Given the description of an element on the screen output the (x, y) to click on. 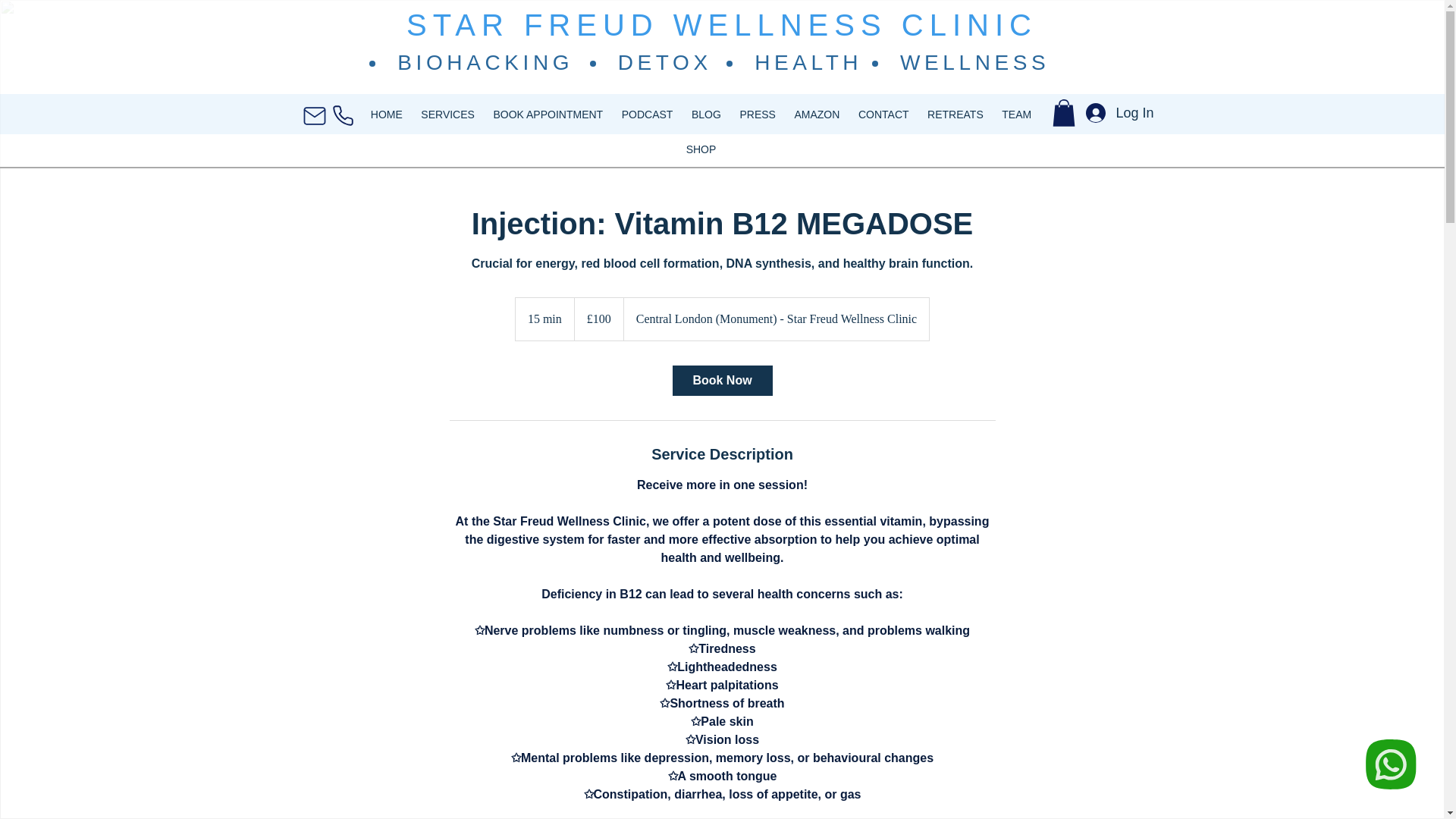
STAR FREUD WELLNESS CLINIC (721, 24)
HEALTH (807, 62)
HOME (386, 114)
DETOX (664, 62)
SERVICES (447, 114)
WELLNESS (974, 62)
BIOHACKING (485, 62)
